Given the description of an element on the screen output the (x, y) to click on. 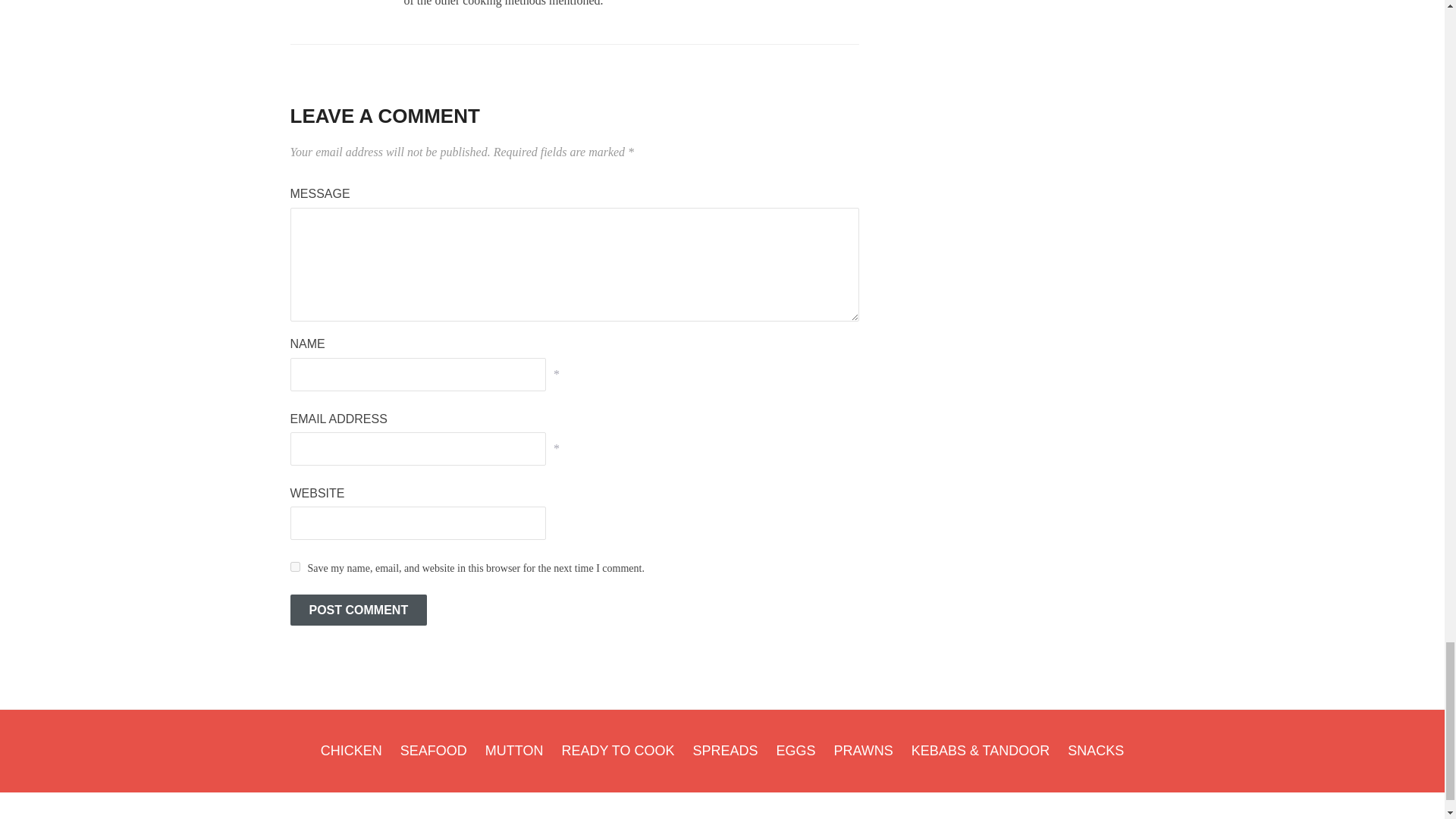
Post Comment (357, 610)
yes (294, 566)
